Given the description of an element on the screen output the (x, y) to click on. 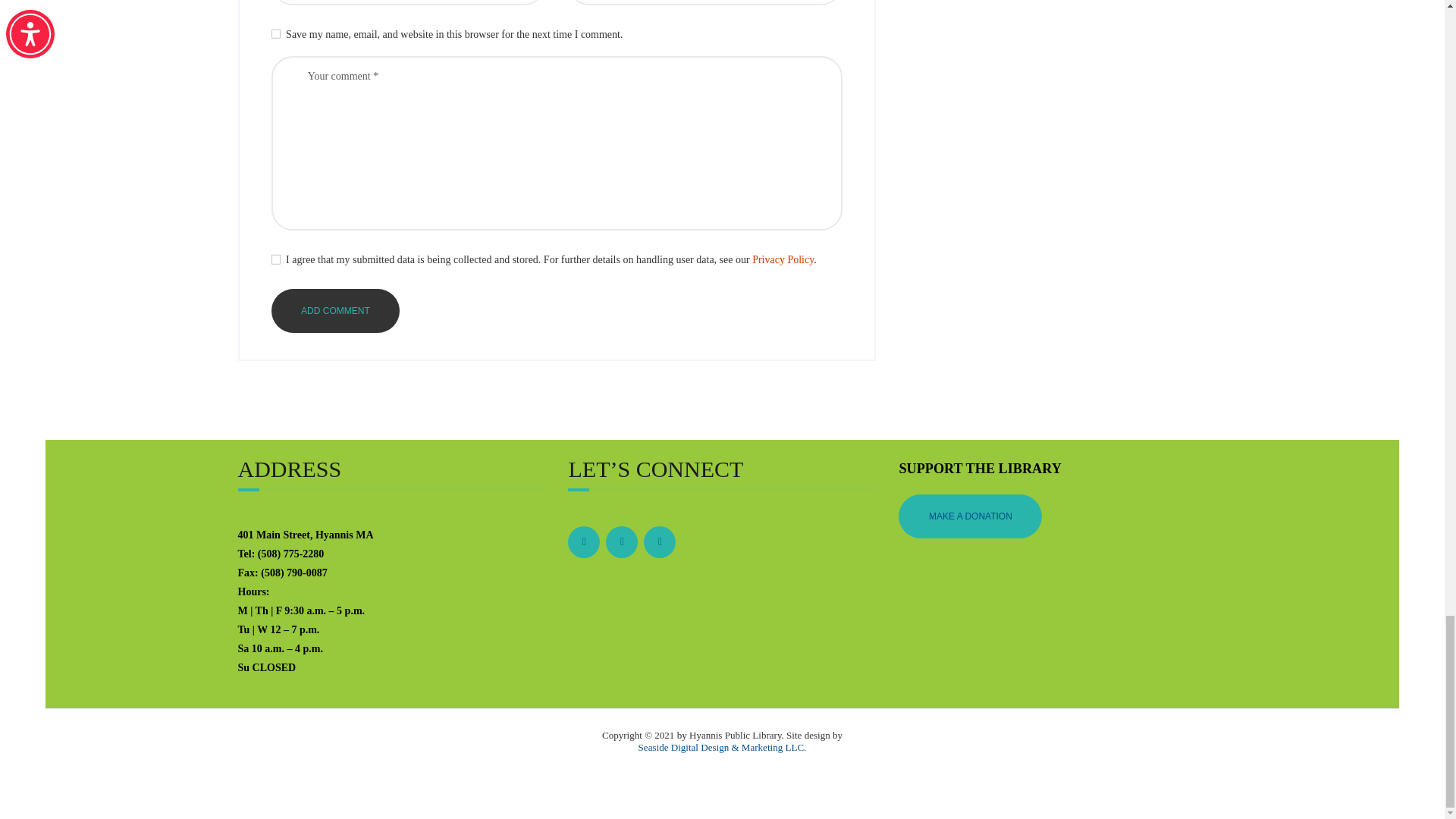
Add Comment (335, 310)
